Given the description of an element on the screen output the (x, y) to click on. 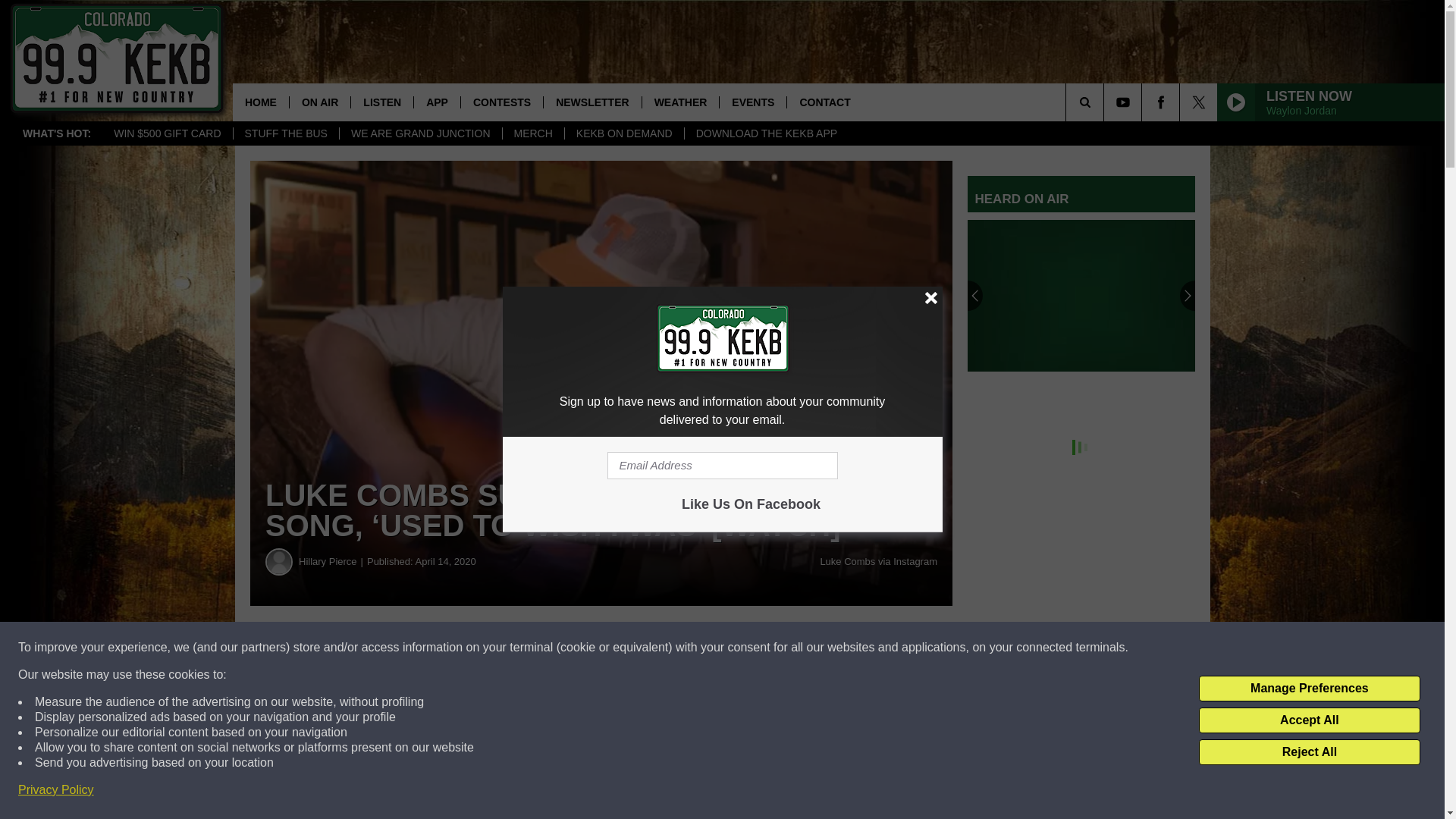
CONTESTS (501, 102)
MERCH (533, 133)
Share on Twitter (741, 647)
Manage Preferences (1309, 688)
WE ARE GRAND JUNCTION (420, 133)
SEARCH (1106, 102)
Email Address (722, 465)
KEKB ON DEMAND (624, 133)
Privacy Policy (55, 789)
Share on Facebook (460, 647)
STUFF THE BUS (284, 133)
SEARCH (1106, 102)
DOWNLOAD THE KEKB APP (766, 133)
Reject All (1309, 751)
HOME (260, 102)
